Given the description of an element on the screen output the (x, y) to click on. 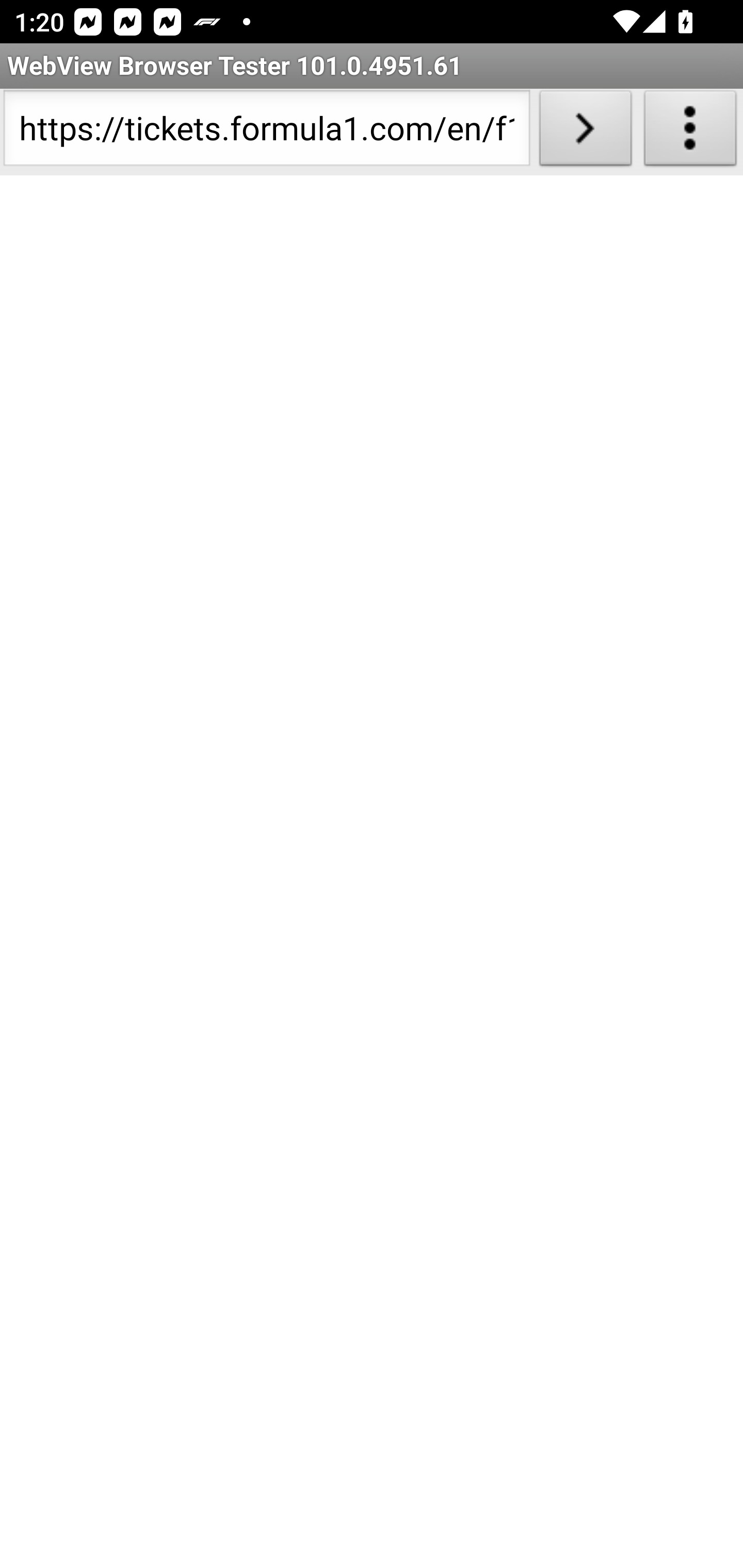
Load URL (585, 132)
About WebView (690, 132)
